Given the description of an element on the screen output the (x, y) to click on. 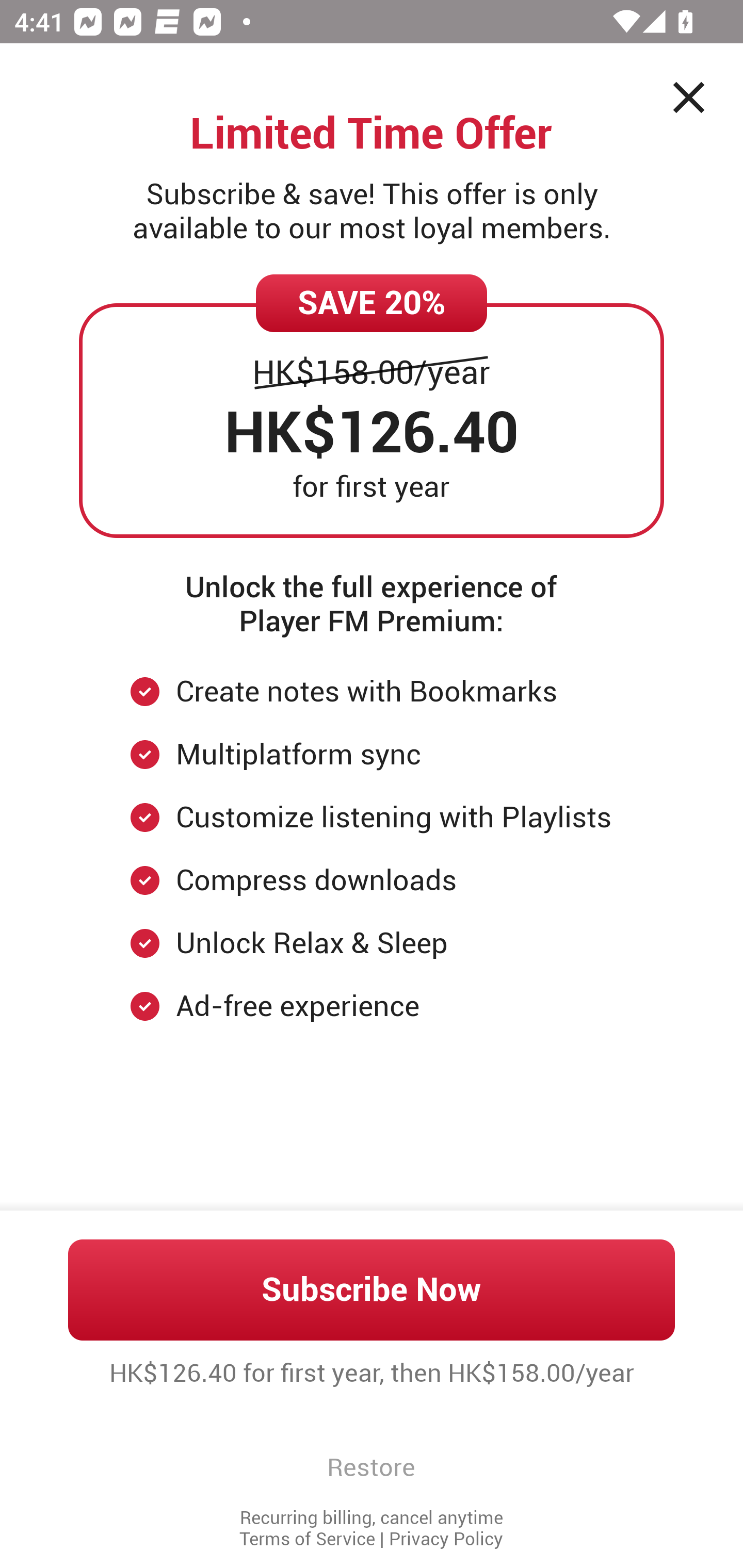
SAVE 20% (371, 303)
Subscribe Now (371, 1289)
Restore (370, 1467)
Terms of Service (307, 1538)
Privacy Policy (446, 1538)
